Given the description of an element on the screen output the (x, y) to click on. 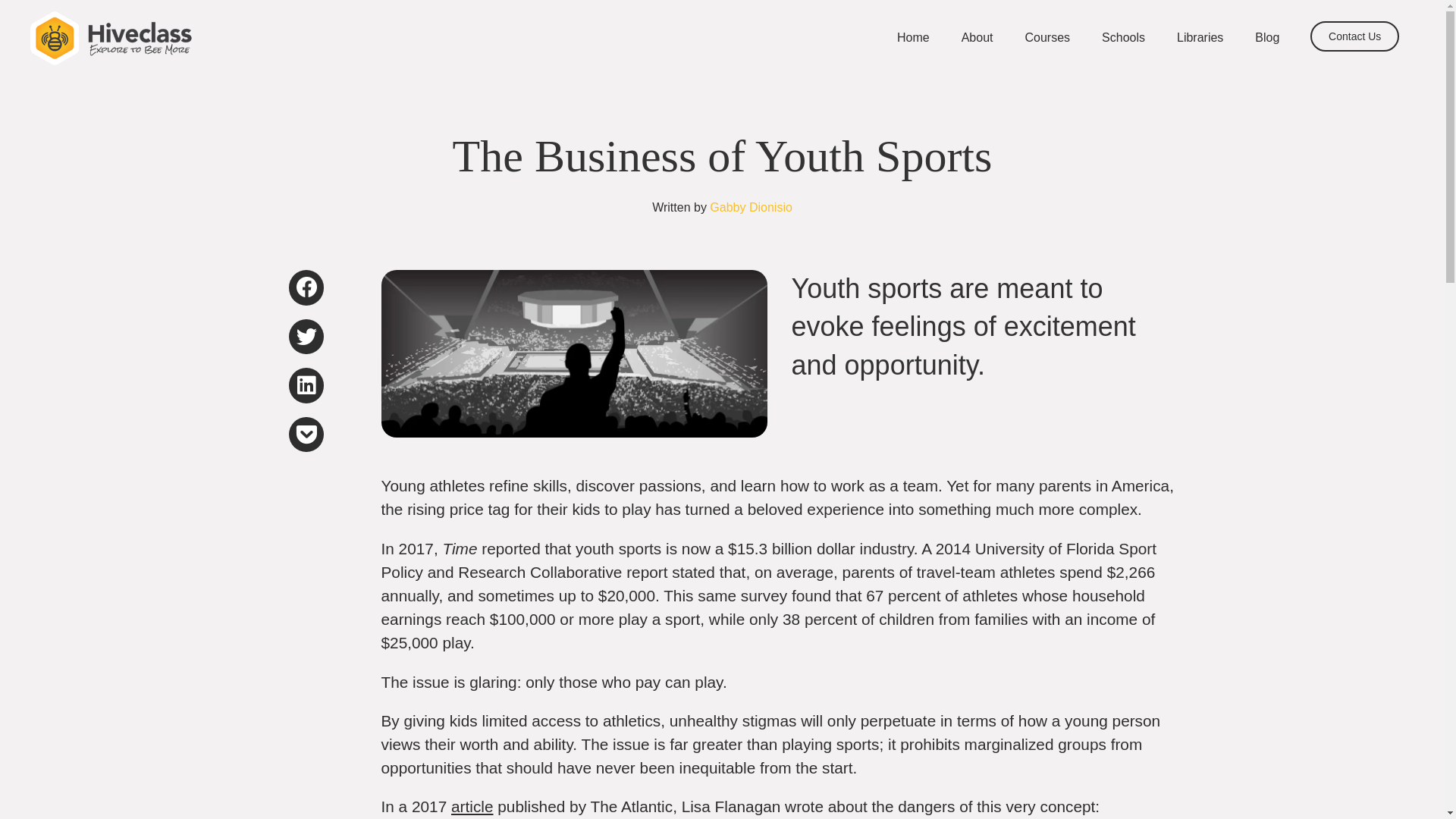
Home (913, 25)
About (977, 37)
Contact Us (1354, 36)
Libraries (1200, 37)
Contact Us (1354, 36)
Home (913, 37)
Schools (1122, 37)
Blog (1266, 37)
article (472, 805)
Courses (1046, 37)
